Given the description of an element on the screen output the (x, y) to click on. 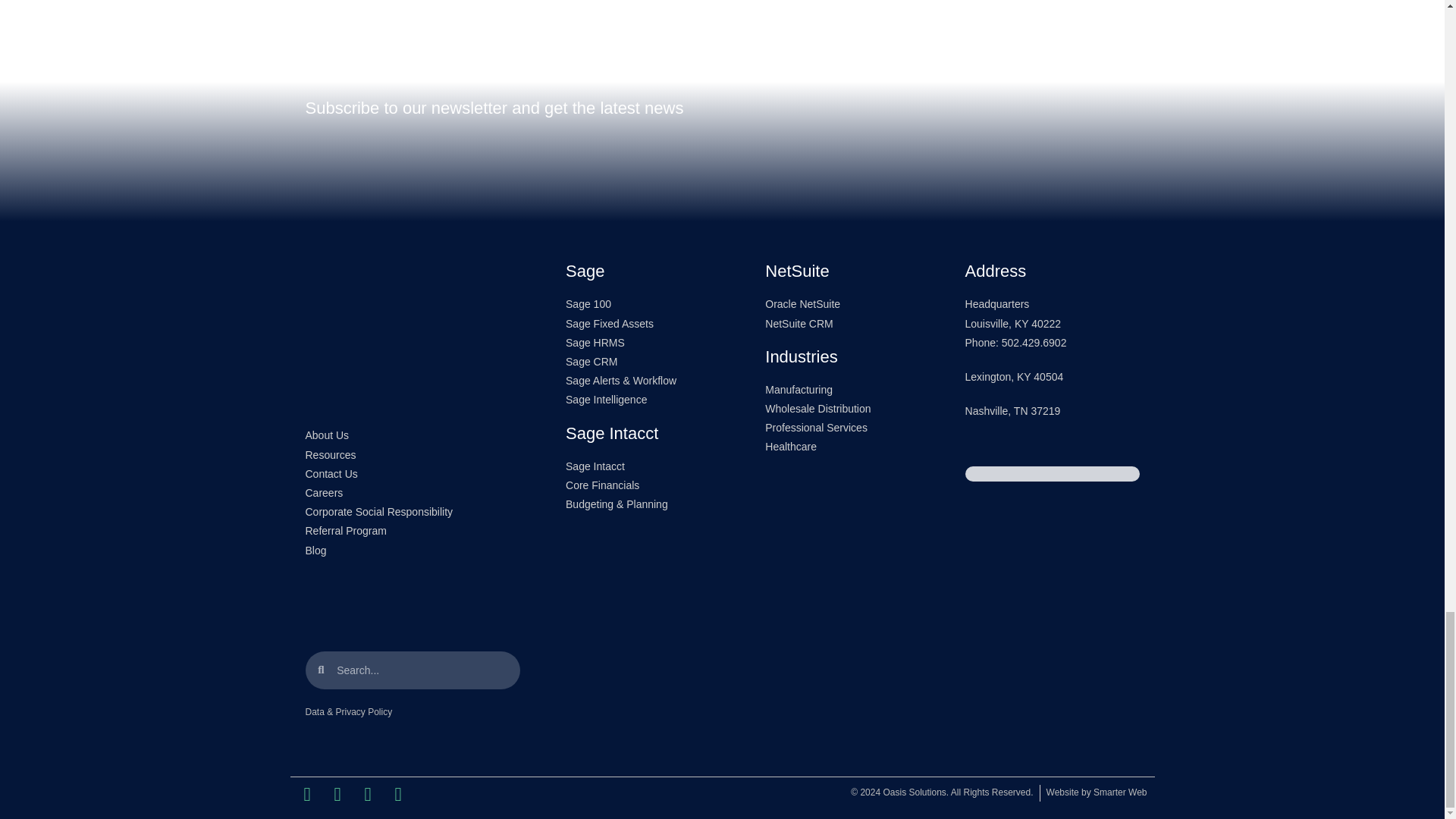
Resources (411, 455)
Sage HRMS (642, 342)
About Us (411, 435)
Sage 100 (642, 303)
Careers (411, 493)
Contact Us (411, 474)
Sage Fixed Assets (642, 323)
Referral Program (411, 530)
Corporate Social Responsibility (411, 511)
Blog (411, 550)
